Given the description of an element on the screen output the (x, y) to click on. 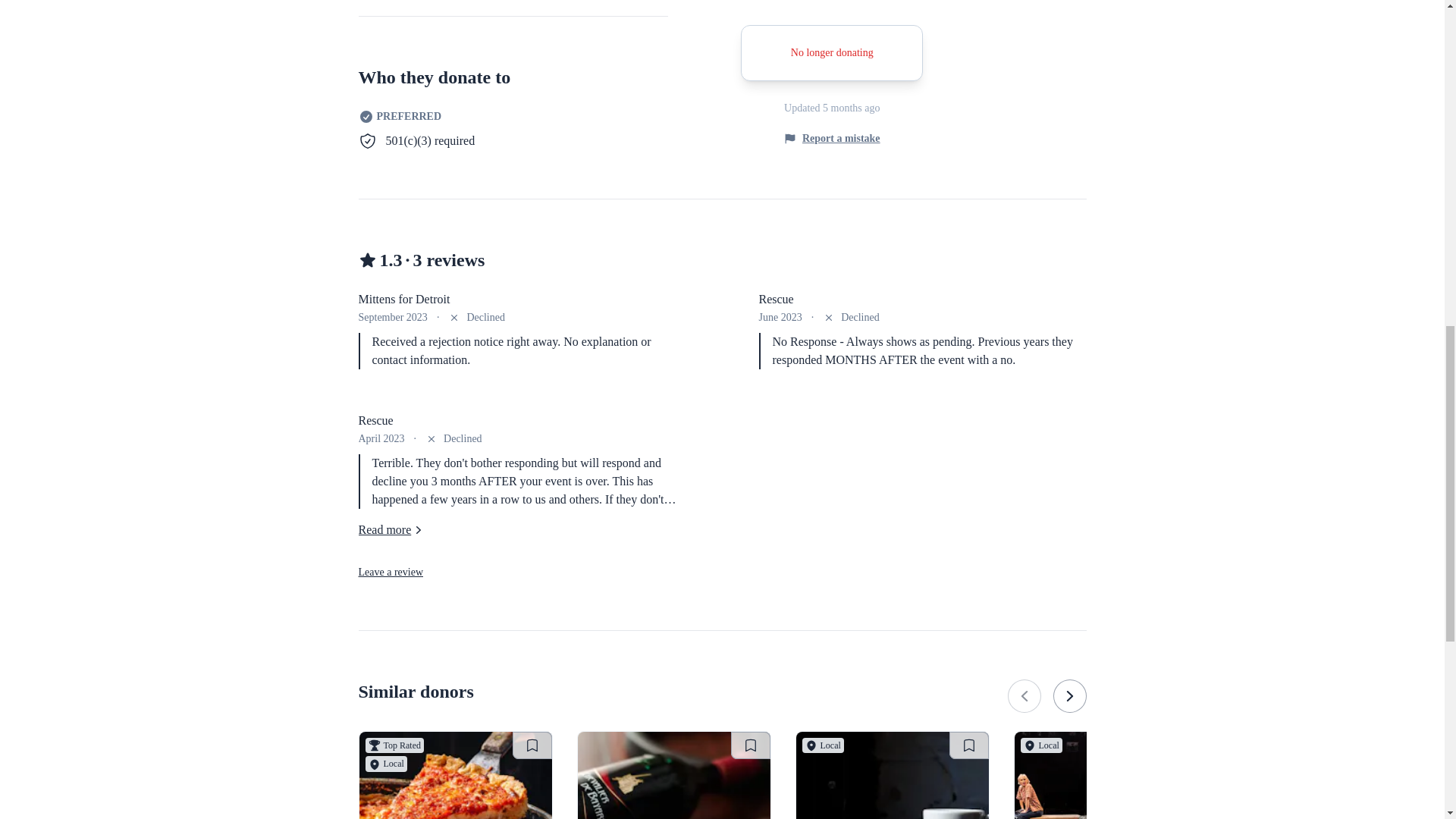
Read more (392, 529)
Leave a review (390, 572)
